Given the description of an element on the screen output the (x, y) to click on. 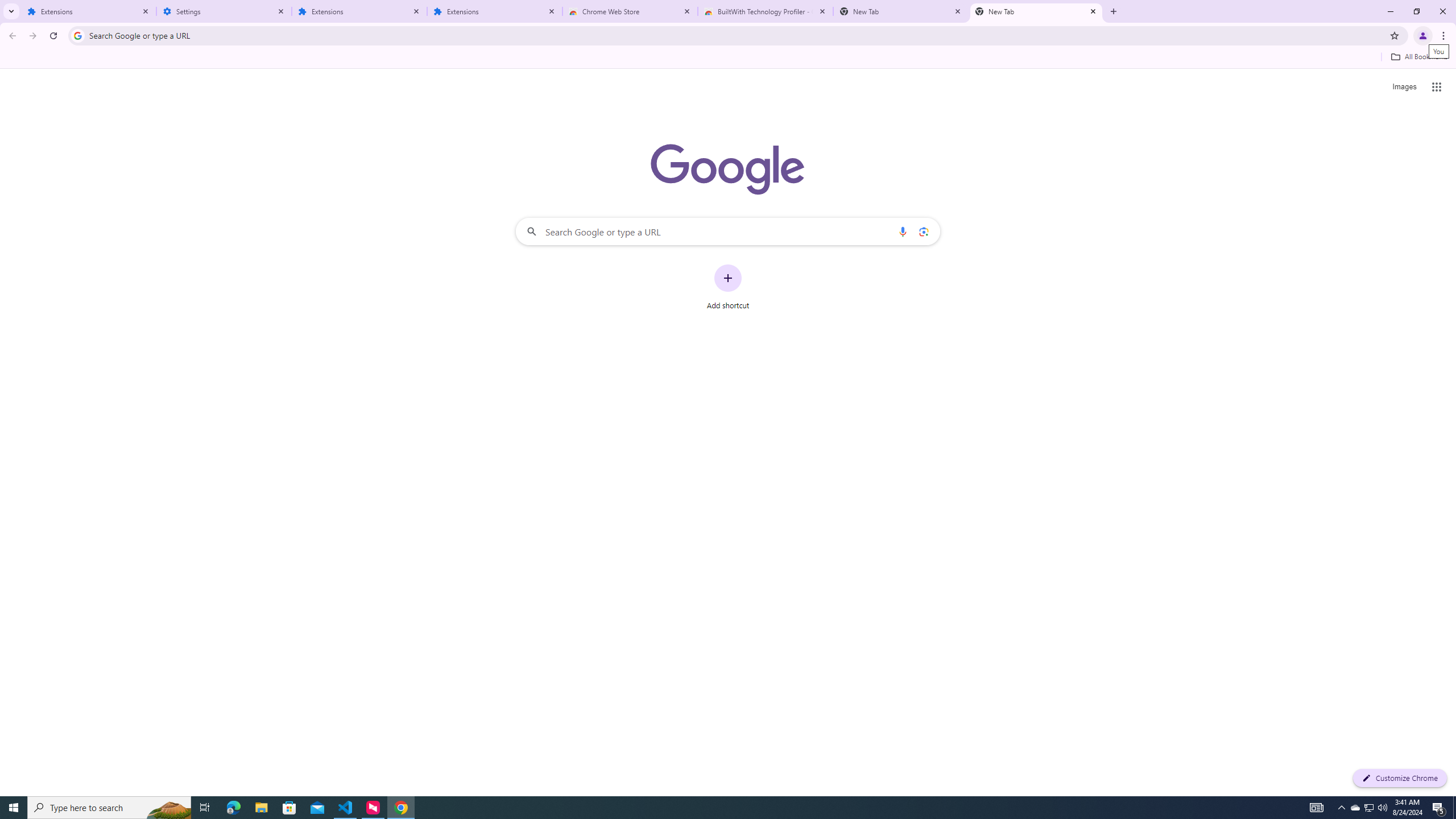
Extensions (494, 11)
New Tab (901, 11)
New Tab (1036, 11)
